Given the description of an element on the screen output the (x, y) to click on. 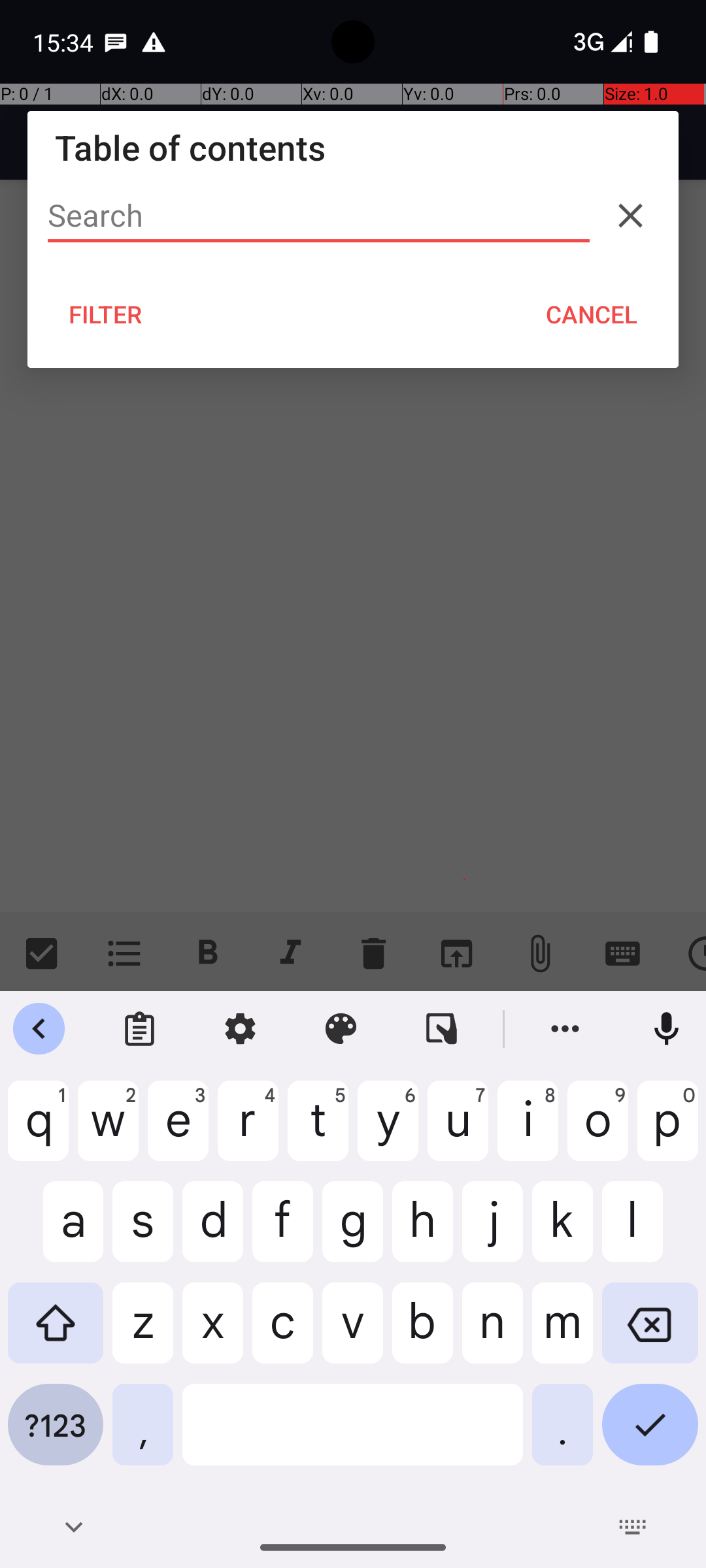
Table of contents Element type: android.widget.TextView (352, 147)
FILTER Element type: android.widget.Button (105, 313)
Theme settings Element type: android.widget.FrameLayout (340, 1028)
One handed mode Element type: android.widget.FrameLayout (441, 1028)
Done Element type: android.widget.FrameLayout (649, 1434)
